Given the description of an element on the screen output the (x, y) to click on. 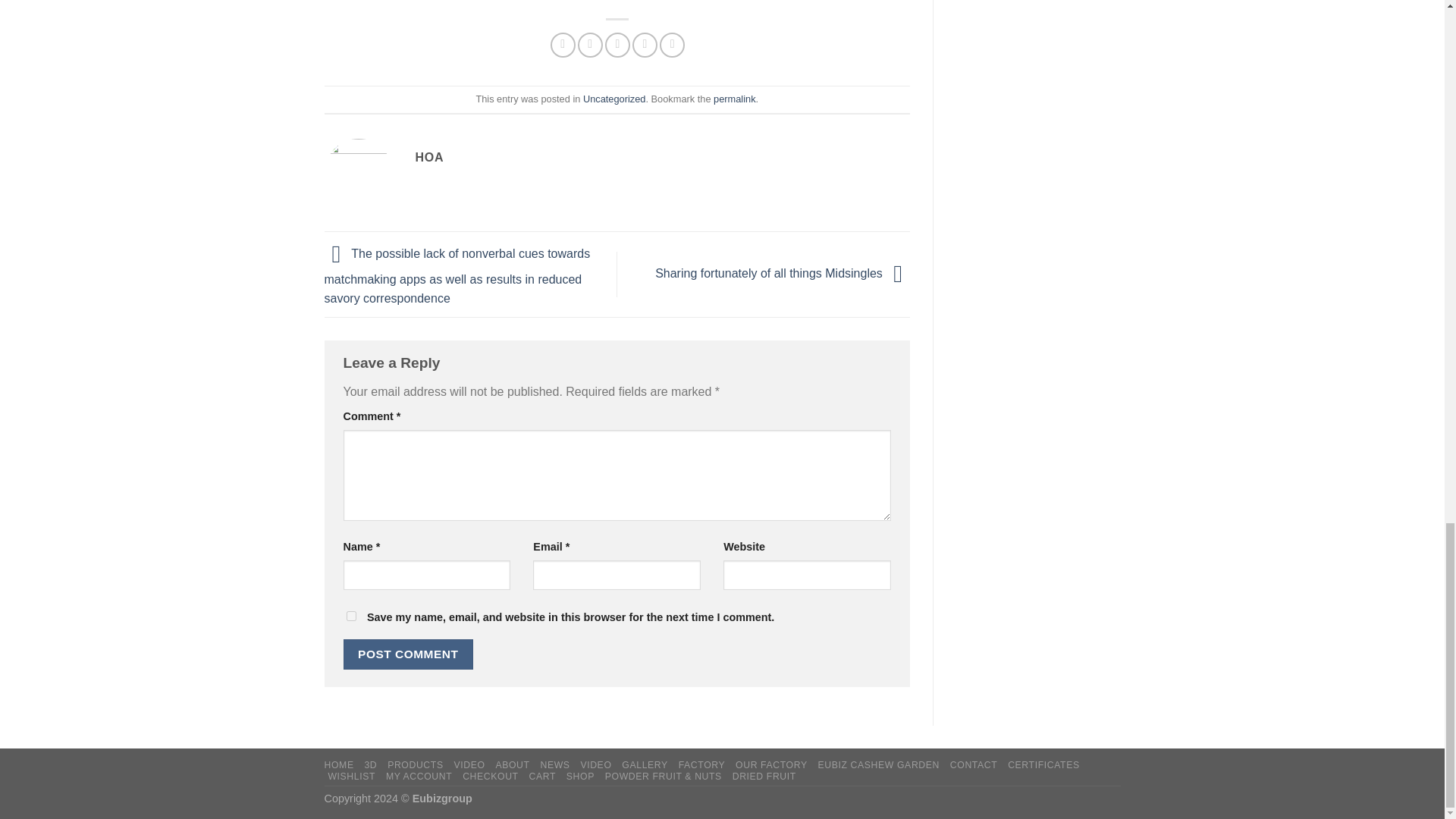
Email to a Friend (617, 44)
Share on Facebook (562, 44)
Uncategorized (614, 98)
yes (350, 615)
Share on LinkedIn (671, 44)
Pin on Pinterest (644, 44)
Post Comment (407, 654)
Share on Twitter (590, 44)
